Given the description of an element on the screen output the (x, y) to click on. 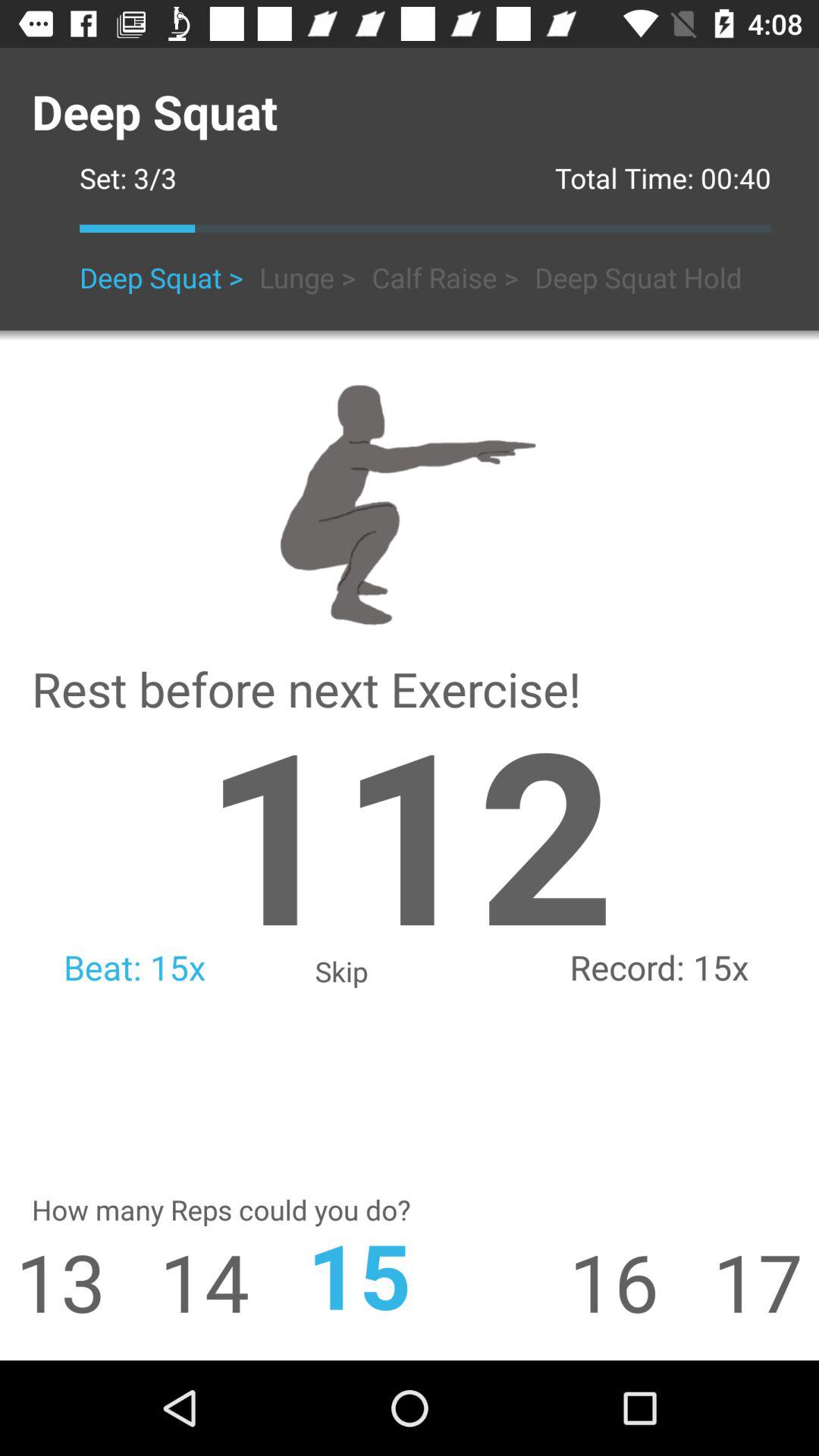
flip until the 13 item (52, 1281)
